Given the description of an element on the screen output the (x, y) to click on. 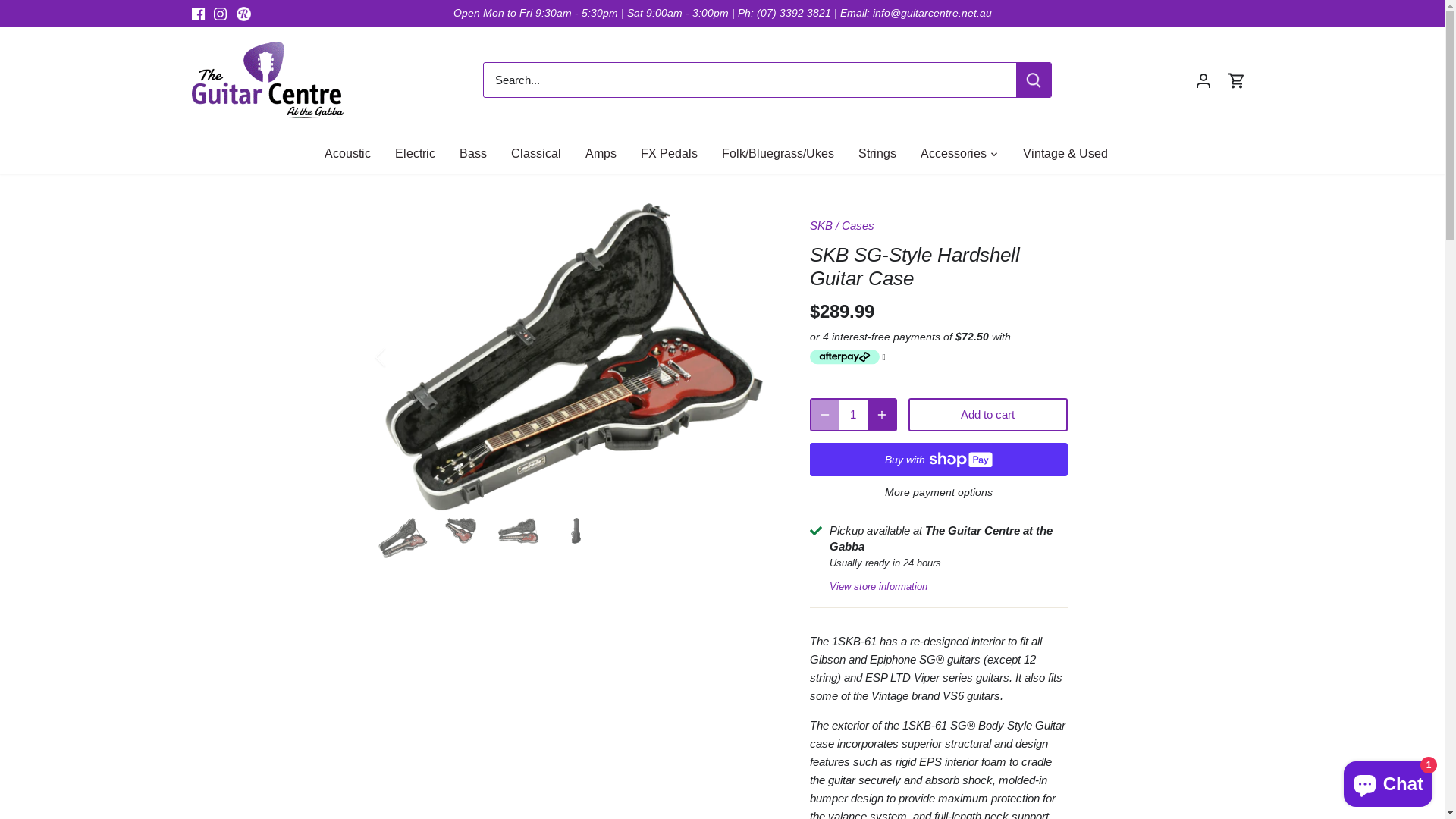
View store information Element type: text (878, 585)
Acoustic Element type: text (353, 153)
Go to cart Element type: hover (1235, 79)
Accessories Element type: text (953, 153)
Shopify online store chat Element type: hover (1388, 780)
Vintage & Used Element type: text (1065, 153)
Classical Element type: text (535, 153)
More payment options Element type: text (938, 492)
Strings Element type: text (877, 153)
Facebook Element type: text (197, 13)
Folk/Bluegrass/Ukes Element type: text (777, 153)
Add to cart Element type: text (987, 414)
Cases Element type: text (857, 225)
Electric Element type: text (414, 153)
SKB Element type: text (820, 225)
FX Pedals Element type: text (668, 153)
Instagram Element type: text (219, 13)
Amps Element type: text (600, 153)
Bass Element type: text (472, 153)
